Given the description of an element on the screen output the (x, y) to click on. 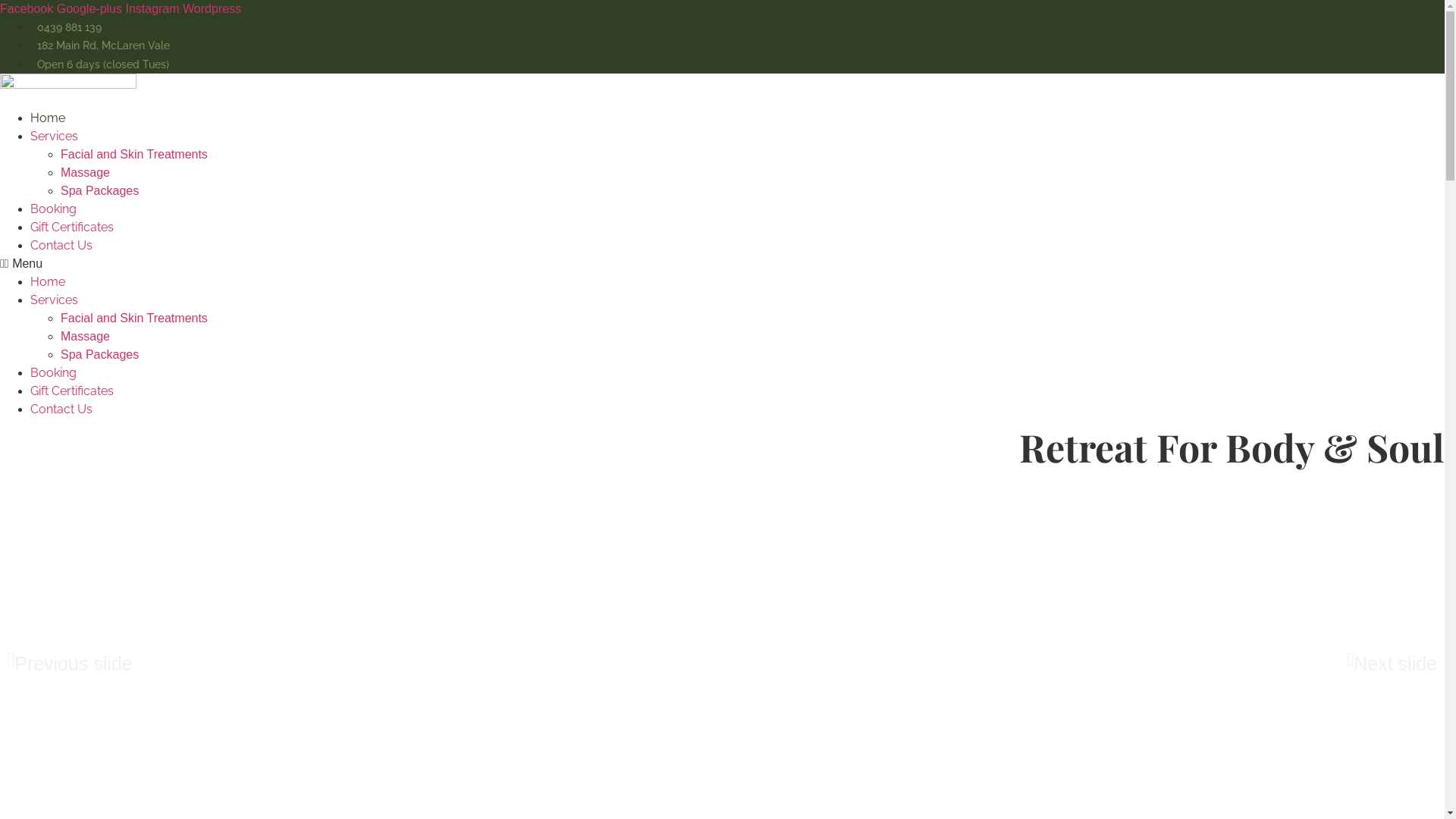
Facial and Skin Treatments Element type: text (133, 317)
Home Element type: text (47, 117)
Services Element type: text (54, 299)
Services Element type: text (54, 135)
Home Element type: text (47, 281)
182 Main Rd, McLaren Vale Element type: text (99, 45)
Gift Certificates Element type: text (71, 226)
Spa Packages Element type: text (99, 354)
Skip to content Element type: text (0, 0)
Wordpress Element type: text (211, 8)
Facial and Skin Treatments Element type: text (133, 153)
Booking Element type: text (53, 208)
0439 881 139 Element type: text (65, 27)
Booking Element type: text (53, 372)
Google-plus Element type: text (90, 8)
Spa Packages Element type: text (99, 190)
Contact Us Element type: text (61, 245)
Massage Element type: text (84, 172)
Facebook Element type: text (28, 8)
Gift Certificates Element type: text (71, 390)
Massage Element type: text (84, 335)
Contact Us Element type: text (61, 408)
Instagram Element type: text (153, 8)
